Given the description of an element on the screen output the (x, y) to click on. 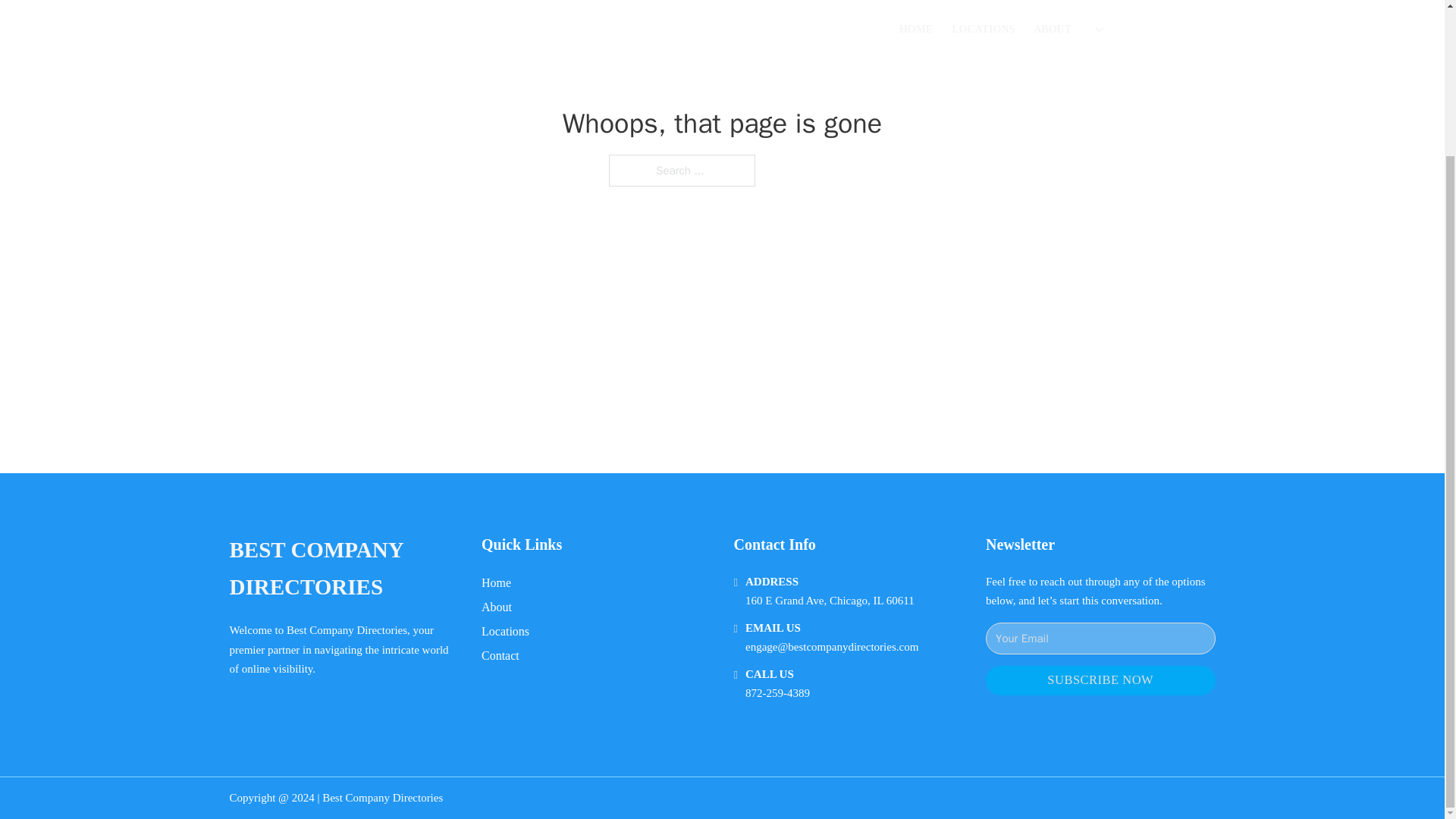
Locations (505, 630)
SUBSCRIBE NOW (1100, 680)
BEST COMPANY DIRECTORIES (343, 568)
Home (496, 582)
872-259-4389 (777, 693)
Contact (500, 655)
About (496, 607)
